Given the description of an element on the screen output the (x, y) to click on. 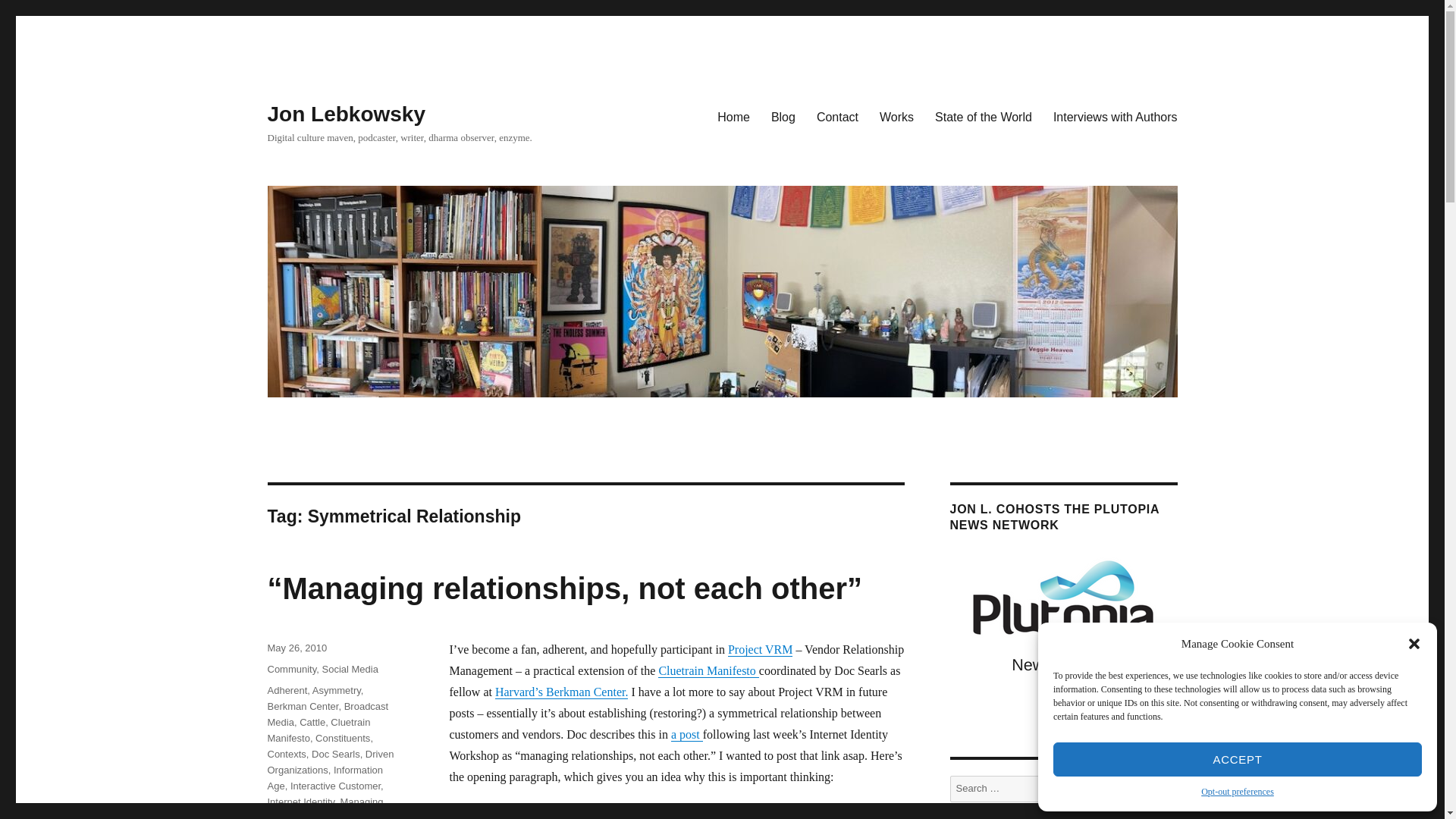
Works (896, 116)
Cluetrain Manifesto (708, 670)
Interviews with Authors (1115, 116)
Blog (783, 116)
May 26, 2010 (296, 647)
Jon Lebkowsky (345, 114)
Asymmetry (337, 690)
Home (733, 116)
Contact (837, 116)
Opt-out preferences (1237, 791)
Social Media (349, 668)
ACCEPT (1237, 759)
a post (687, 734)
State of the World (983, 116)
Project VRM (760, 649)
